Given the description of an element on the screen output the (x, y) to click on. 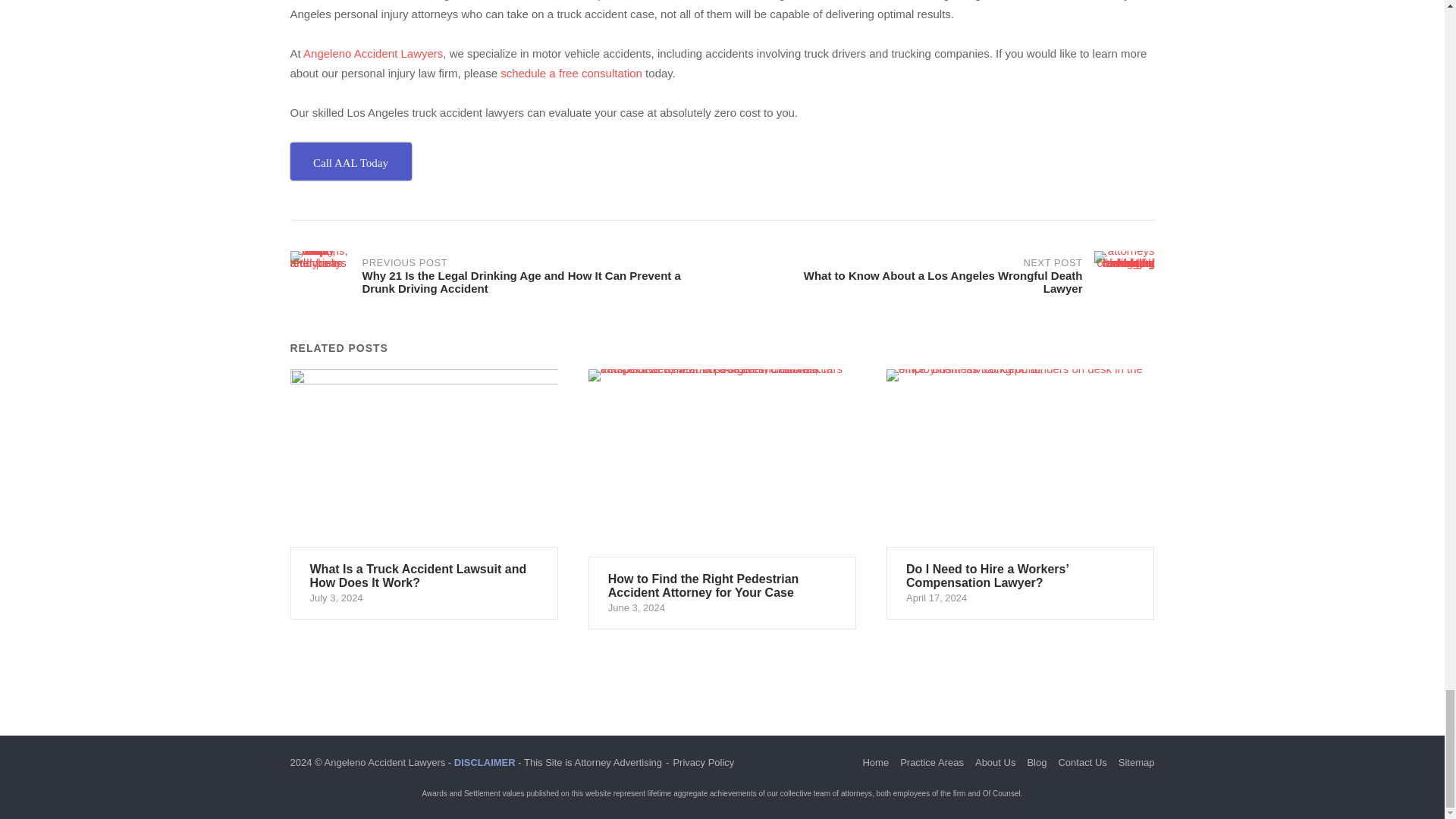
What Is a Truck Accident Lawsuit and How Does It Work? (423, 494)
Call AAL Today (349, 161)
schedule a free consultation (569, 72)
DISCLAIMER (484, 762)
Angeleno Accident Lawyers (372, 52)
Privacy Policy (702, 762)
